Given the description of an element on the screen output the (x, y) to click on. 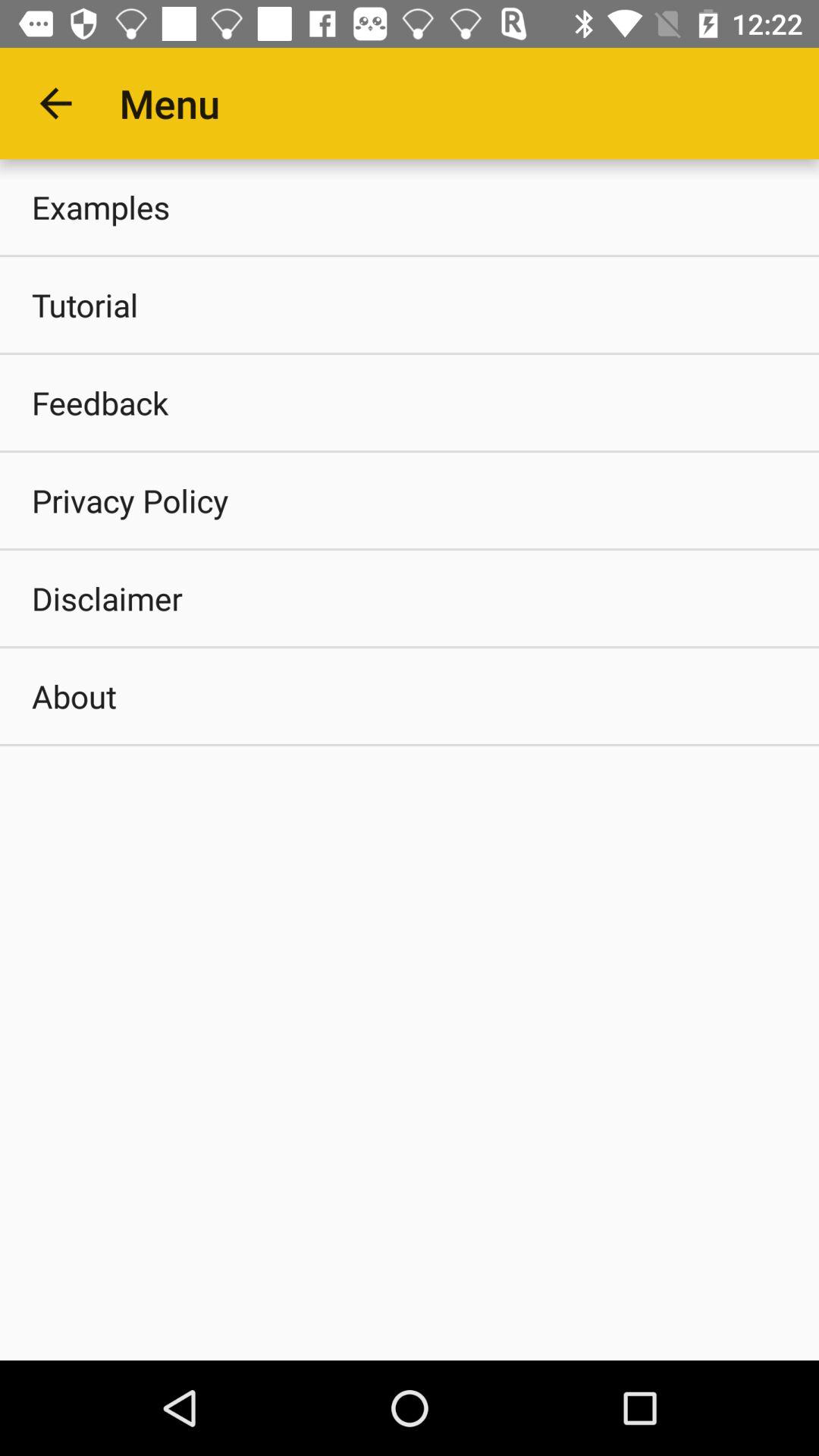
flip until about item (409, 695)
